Given the description of an element on the screen output the (x, y) to click on. 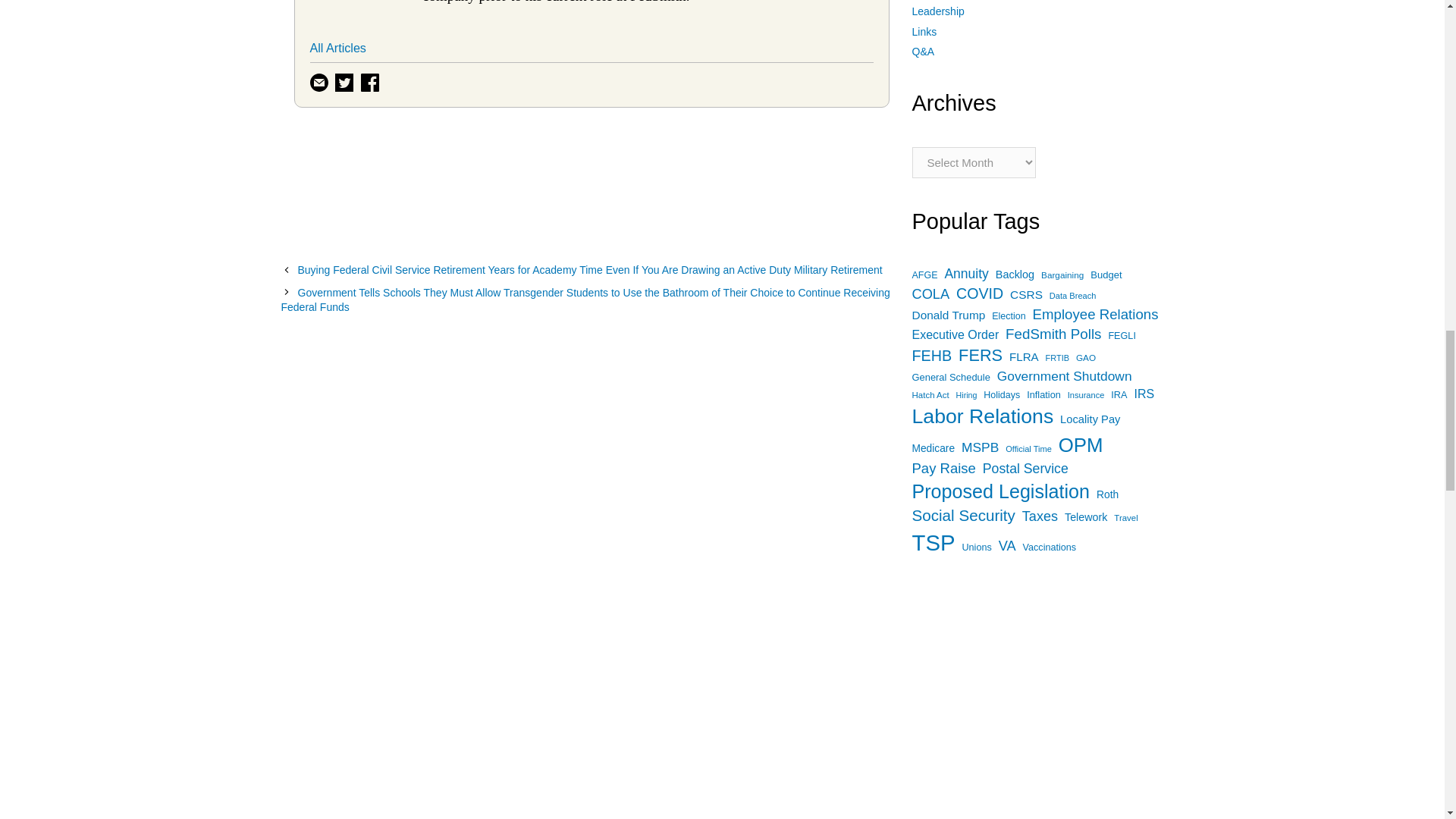
Contact Ian Smith (319, 80)
View all articles from Ian Smith (366, 0)
All Articles (336, 47)
Follow Ian Smith on Twitter (345, 80)
See all articles from Ian Smith (336, 47)
Follow Ian Smith on Facebook (371, 80)
